Given the description of an element on the screen output the (x, y) to click on. 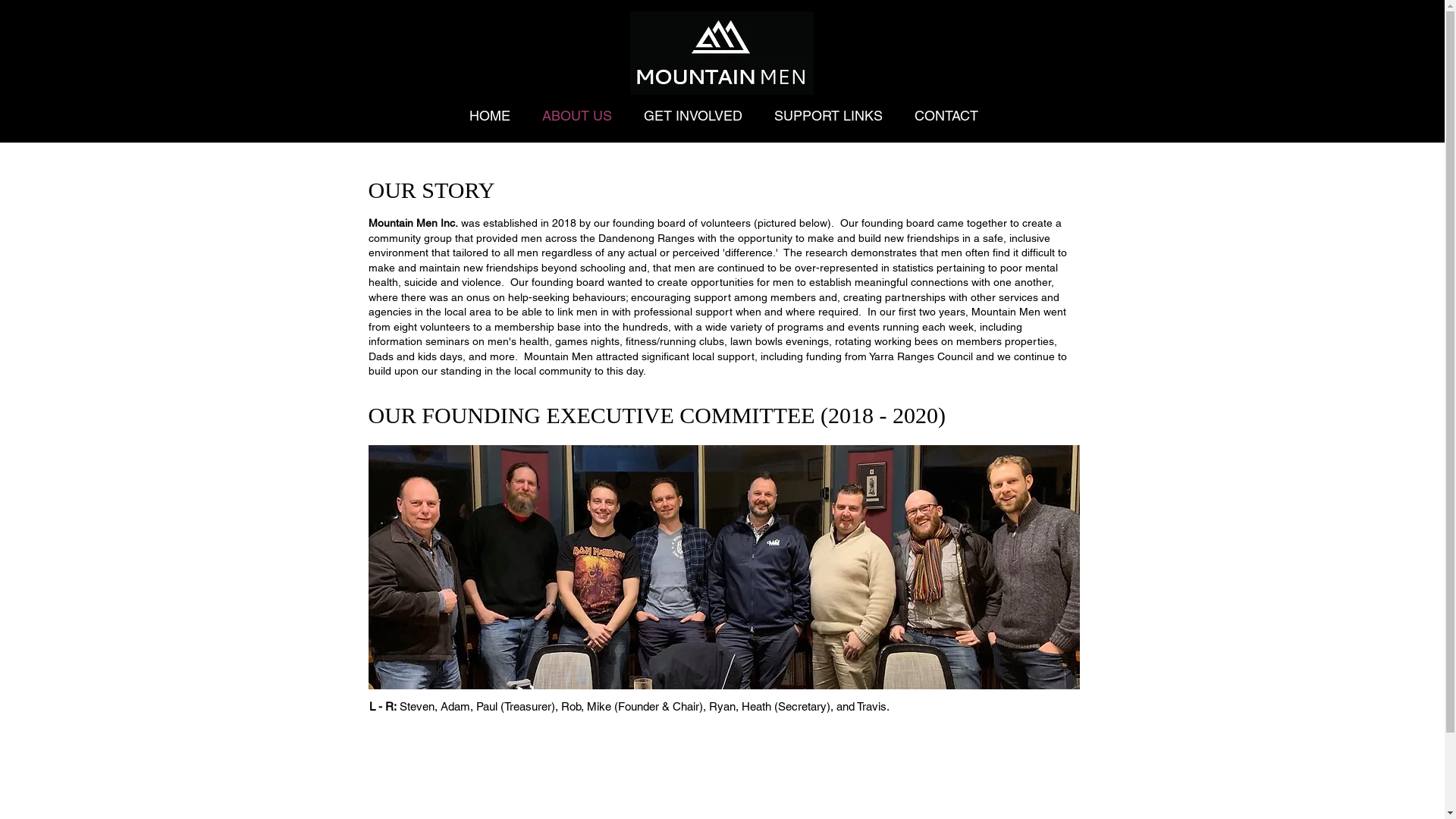
ABOUT US Element type: text (576, 115)
SUPPORT LINKS Element type: text (828, 115)
CONTACT Element type: text (946, 115)
GET INVOLVED Element type: text (692, 115)
HOME Element type: text (489, 115)
